Given the description of an element on the screen output the (x, y) to click on. 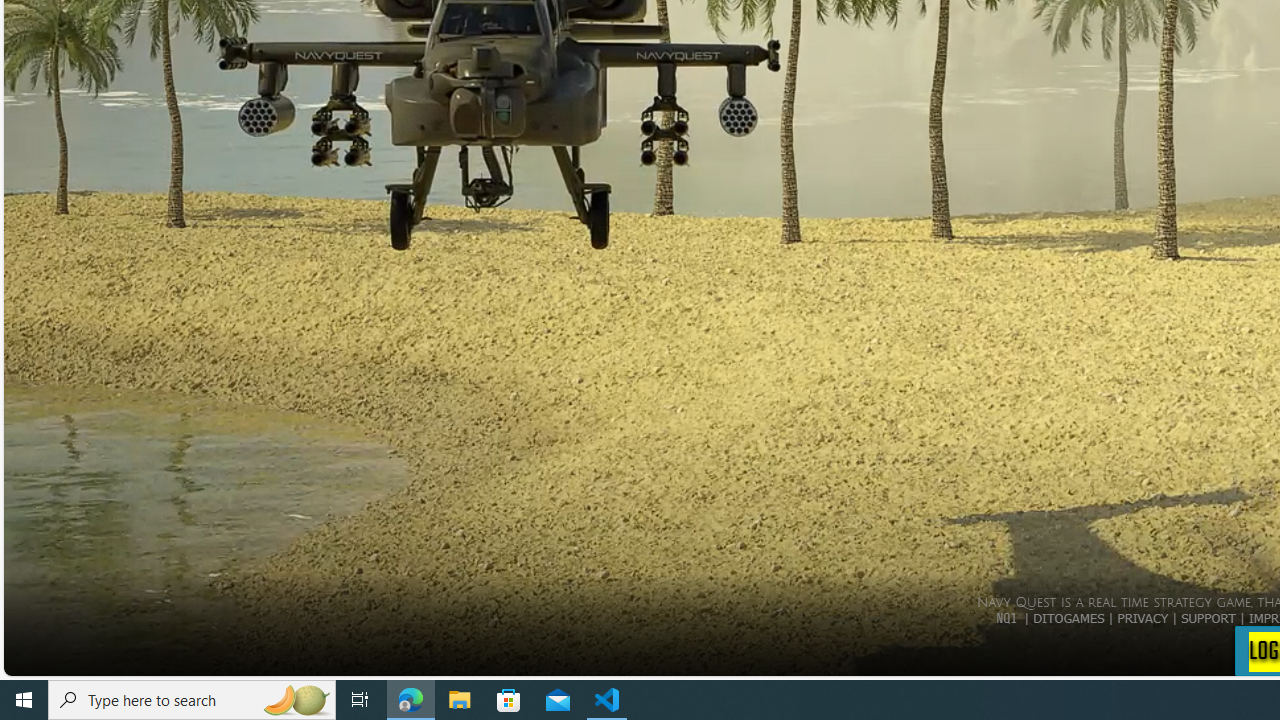
PRIVACY (1142, 617)
SUPPORT (1208, 617)
